Given the description of an element on the screen output the (x, y) to click on. 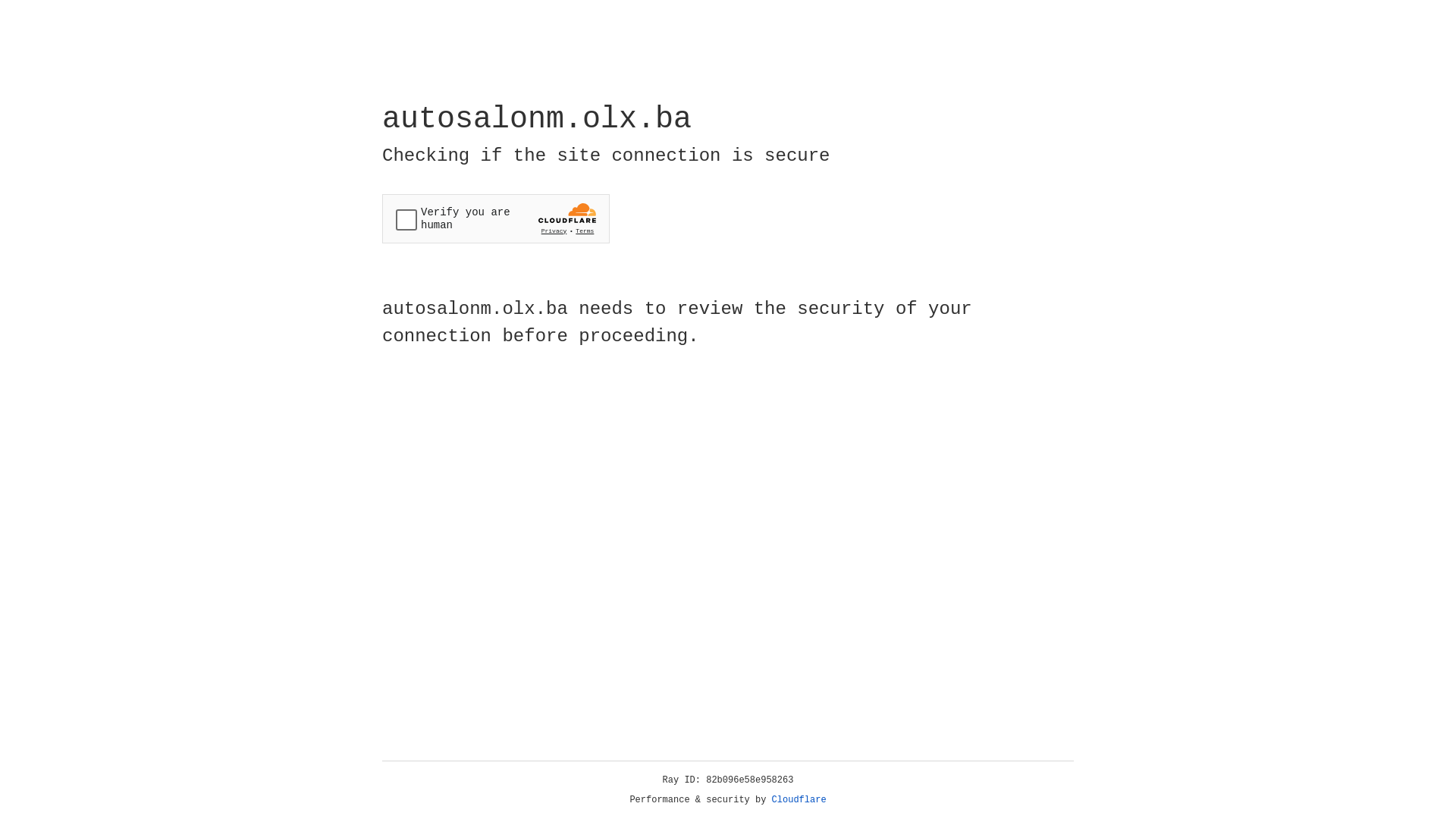
Widget containing a Cloudflare security challenge Element type: hover (495, 218)
Cloudflare Element type: text (798, 799)
